Given the description of an element on the screen output the (x, y) to click on. 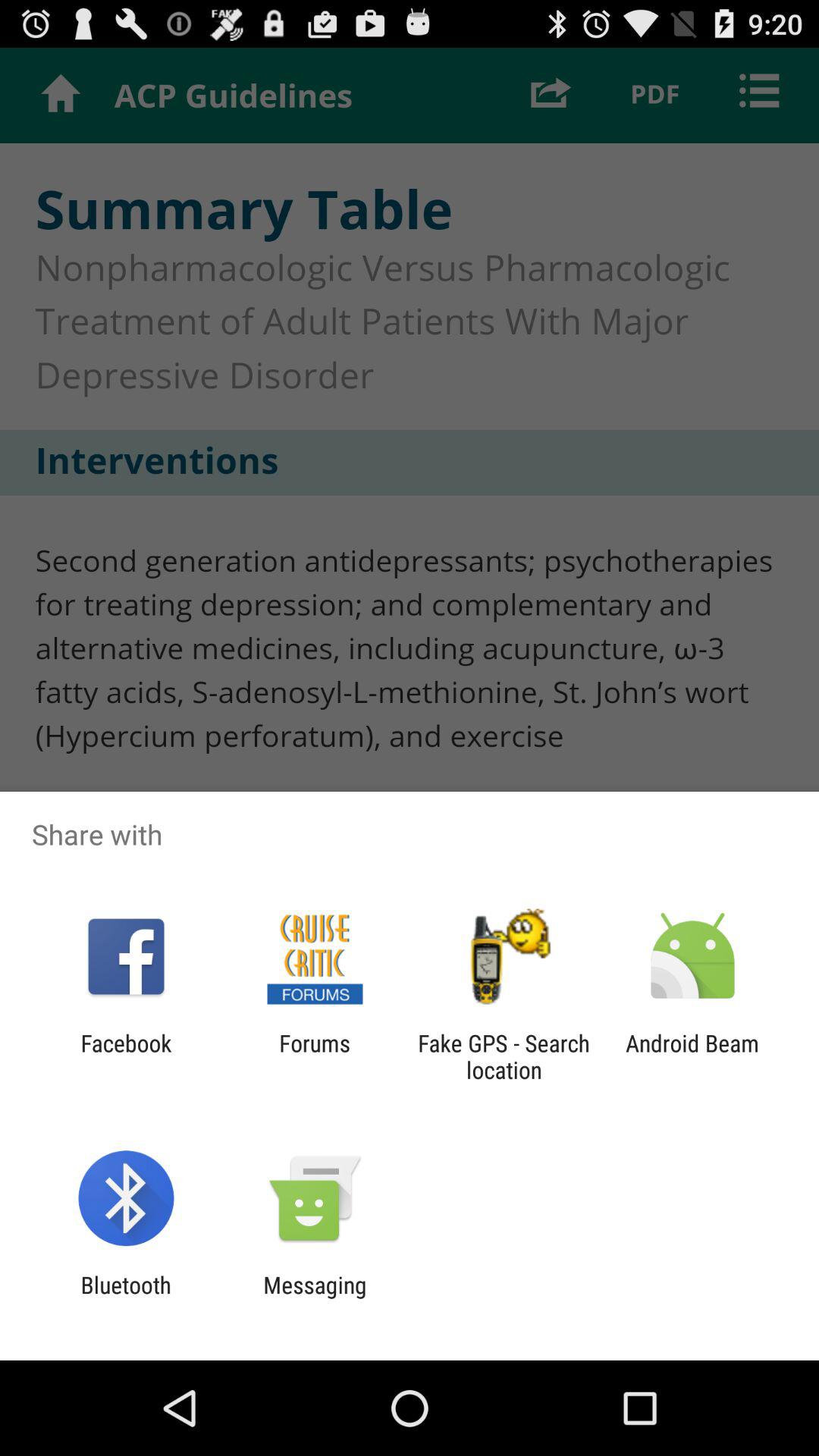
flip until fake gps search app (503, 1056)
